Given the description of an element on the screen output the (x, y) to click on. 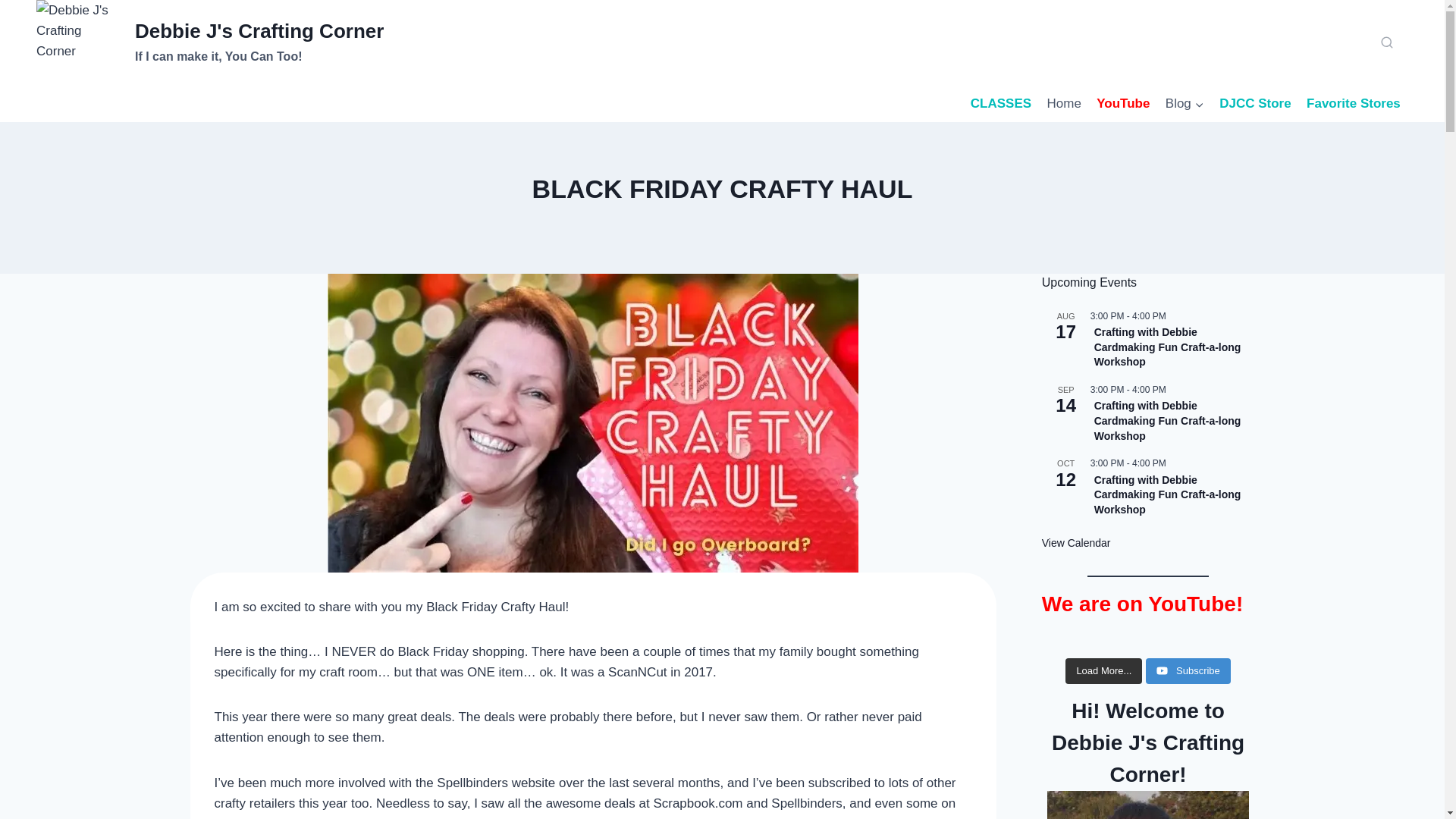
Crafting with Debbie Cardmaking Fun Craft-a-long Workshop (1167, 346)
DJCC Store (1254, 103)
Crafting with Debbie Cardmaking Fun Craft-a-long Workshop (1167, 495)
Crafting with Debbie Cardmaking Fun Craft-a-long Workshop (210, 42)
CLASSES (1167, 420)
Favorite Stores (1000, 103)
Home (1352, 103)
View more events. (1064, 103)
Blog (1076, 543)
YouTube (1184, 103)
